Given the description of an element on the screen output the (x, y) to click on. 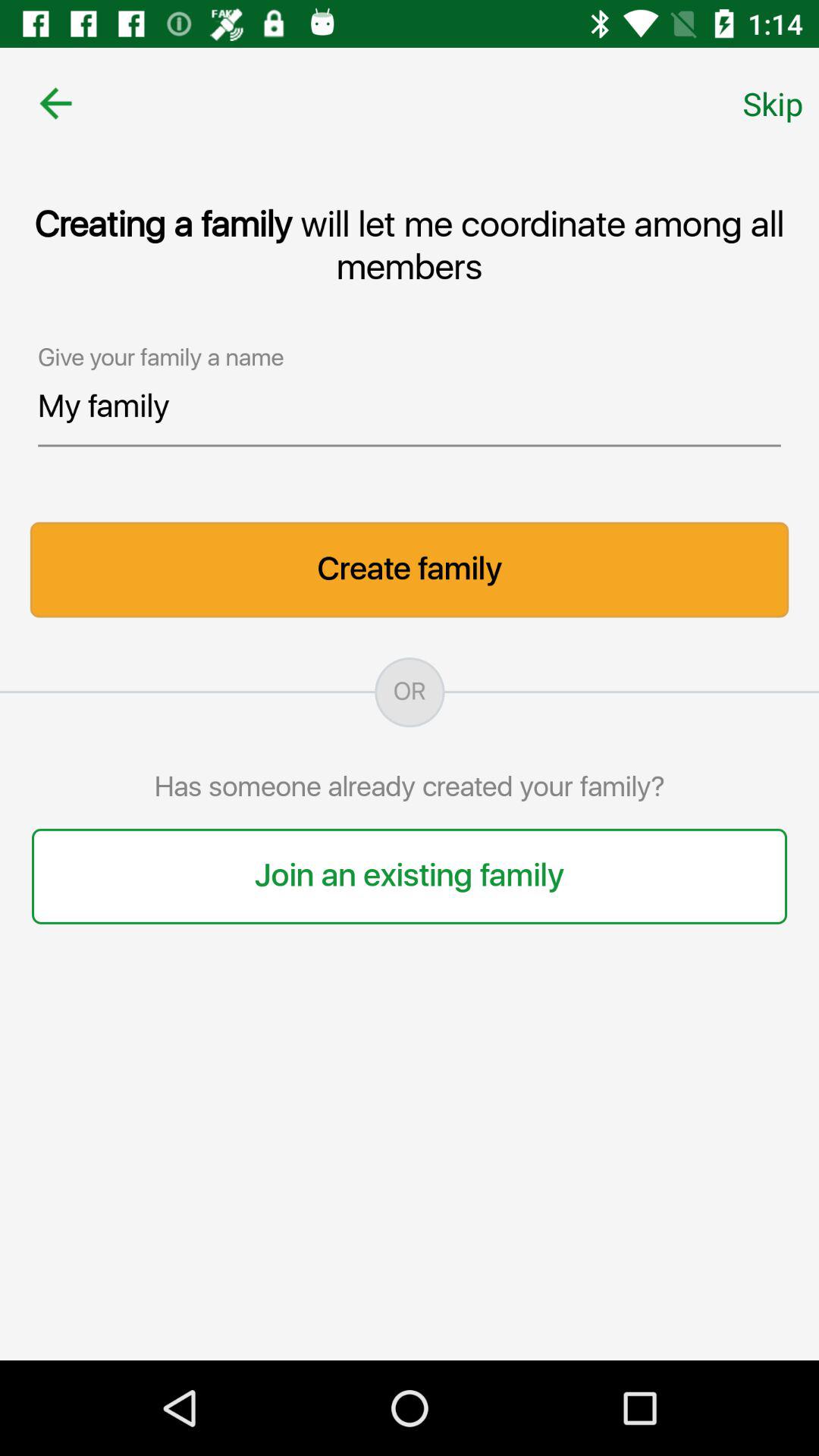
flip to the join an existing icon (409, 876)
